Given the description of an element on the screen output the (x, y) to click on. 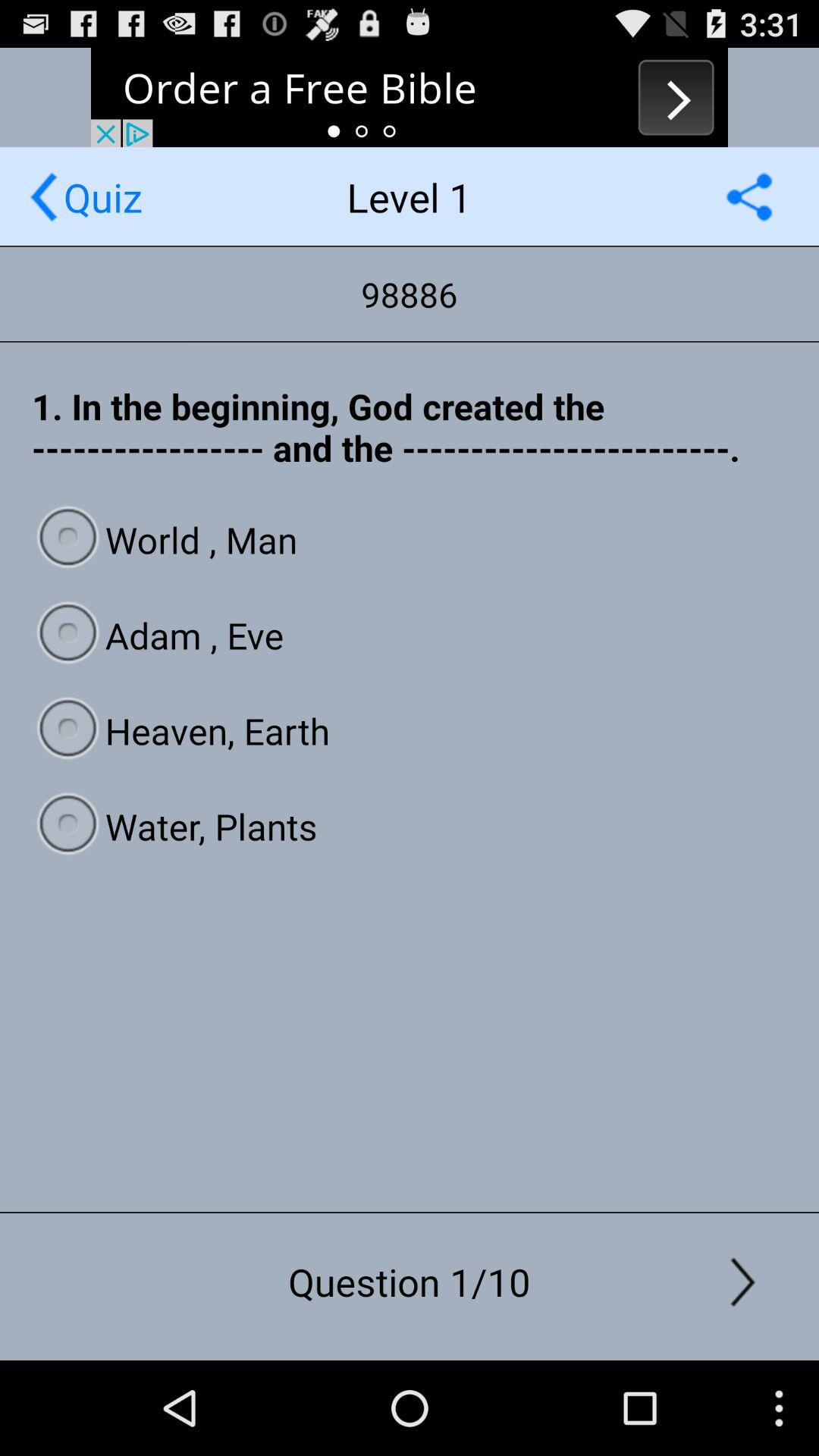
toggle autoplay option (749, 196)
